Given the description of an element on the screen output the (x, y) to click on. 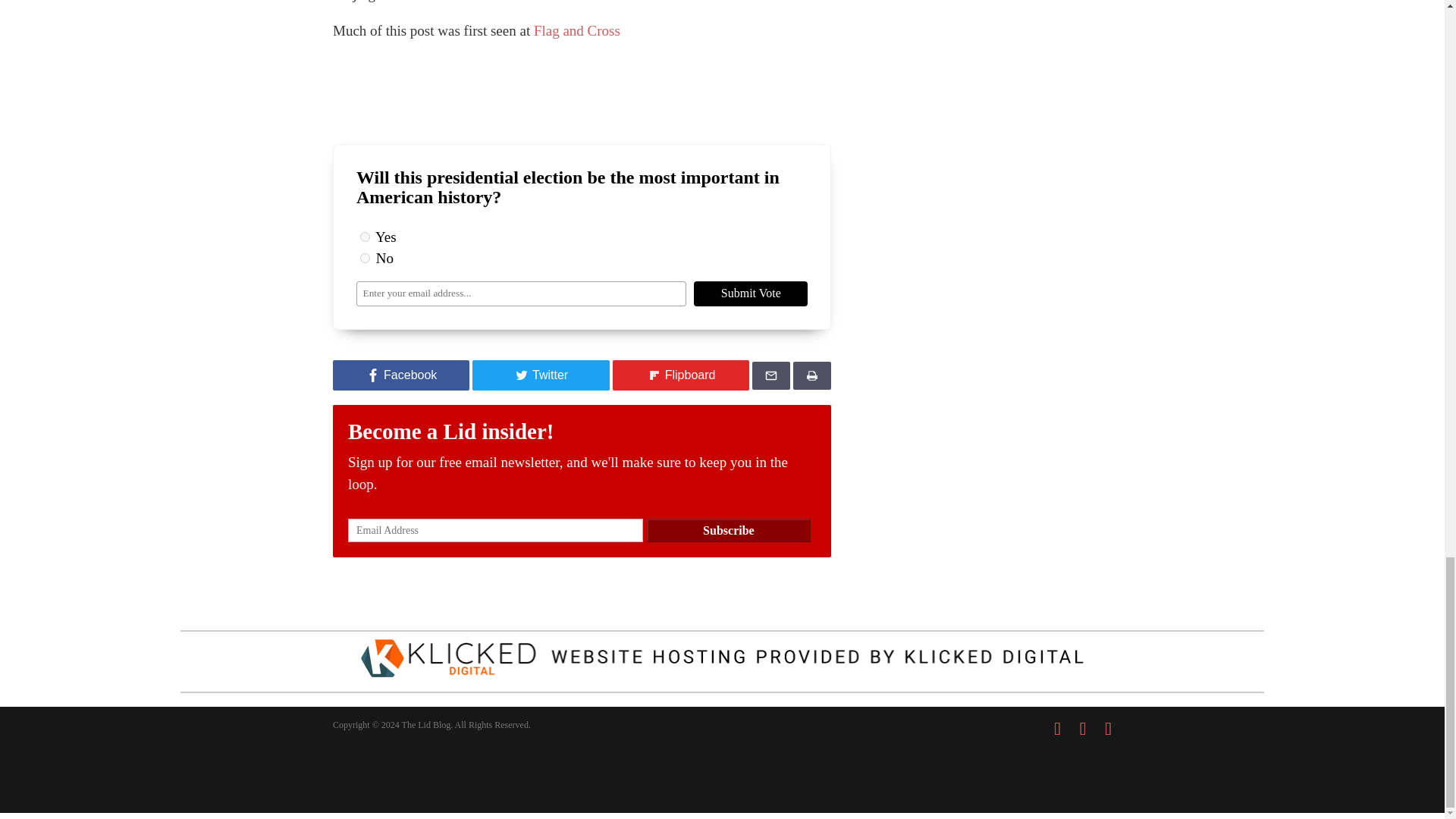
30 (364, 257)
29 (364, 236)
